Given the description of an element on the screen output the (x, y) to click on. 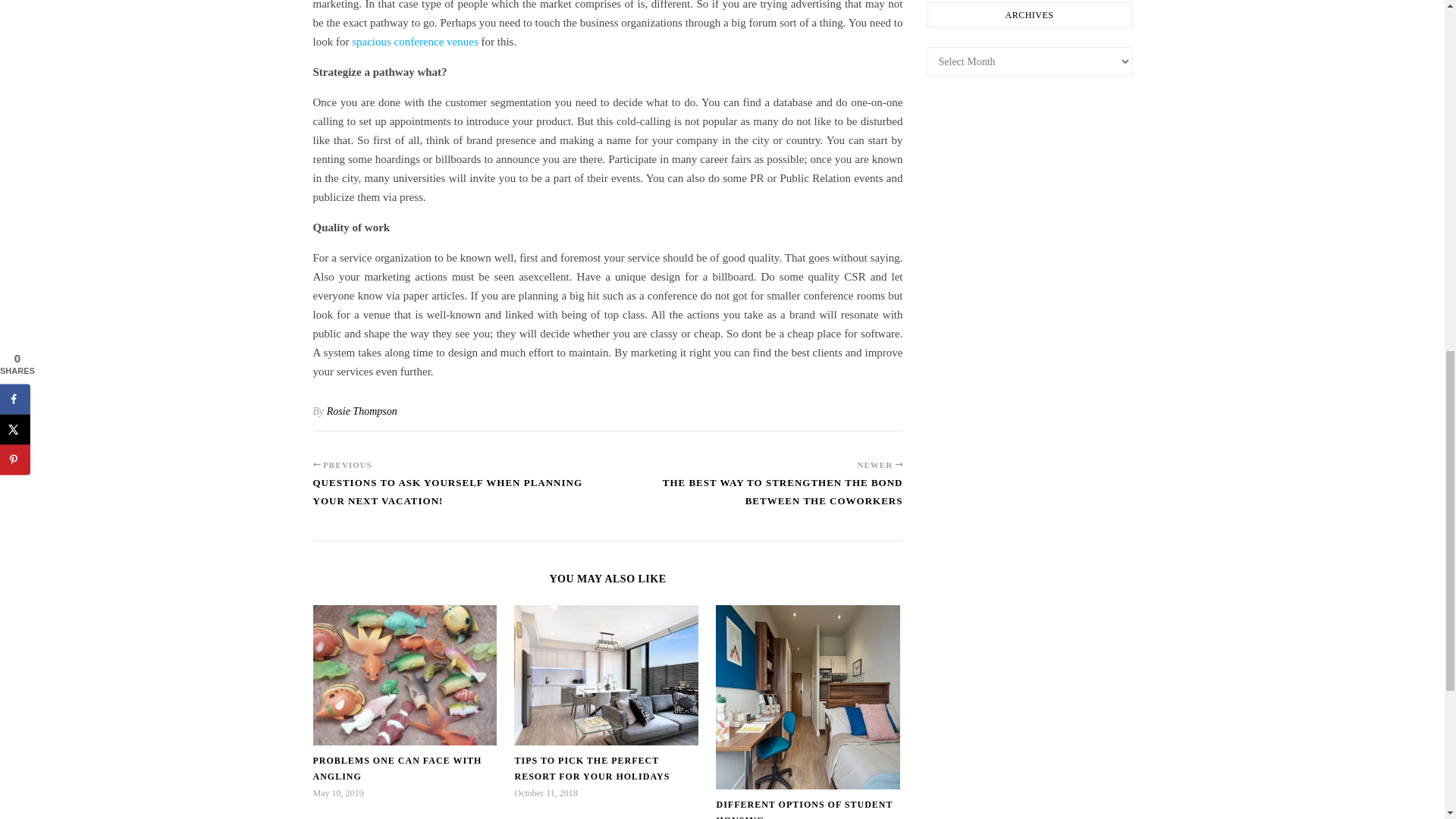
Rosie Thompson (361, 410)
THE BEST WAY TO STRENGTHEN THE BOND BETWEEN THE COWORKERS (755, 499)
PROBLEMS ONE CAN FACE WITH ANGLING (397, 768)
spacious conference venues (415, 41)
DIFFERENT OPTIONS OF STUDENT HOUSING (804, 809)
Questions To Ask Yourself When Planning Your Next Vacation! (460, 499)
The Best Way To Strengthen The Bond Between The Coworkers (755, 499)
Posts by Rosie Thompson (361, 410)
TIPS TO PICK THE PERFECT RESORT FOR YOUR HOLIDAYS (591, 768)
QUESTIONS TO ASK YOURSELF WHEN PLANNING YOUR NEXT VACATION! (460, 499)
